Given the description of an element on the screen output the (x, y) to click on. 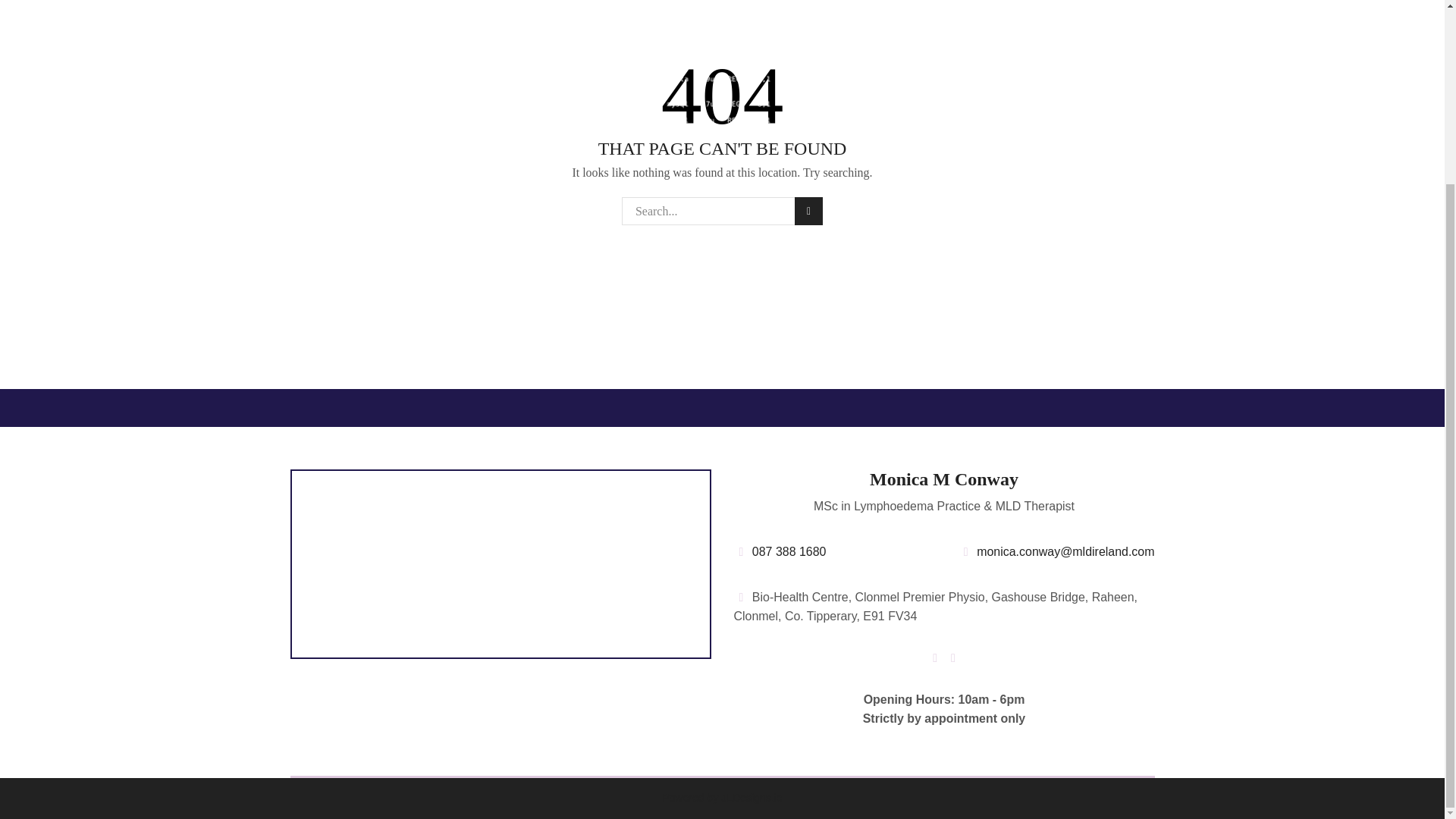
Log in (890, 14)
087 388 1680 (780, 551)
SEARCH (808, 211)
